Given the description of an element on the screen output the (x, y) to click on. 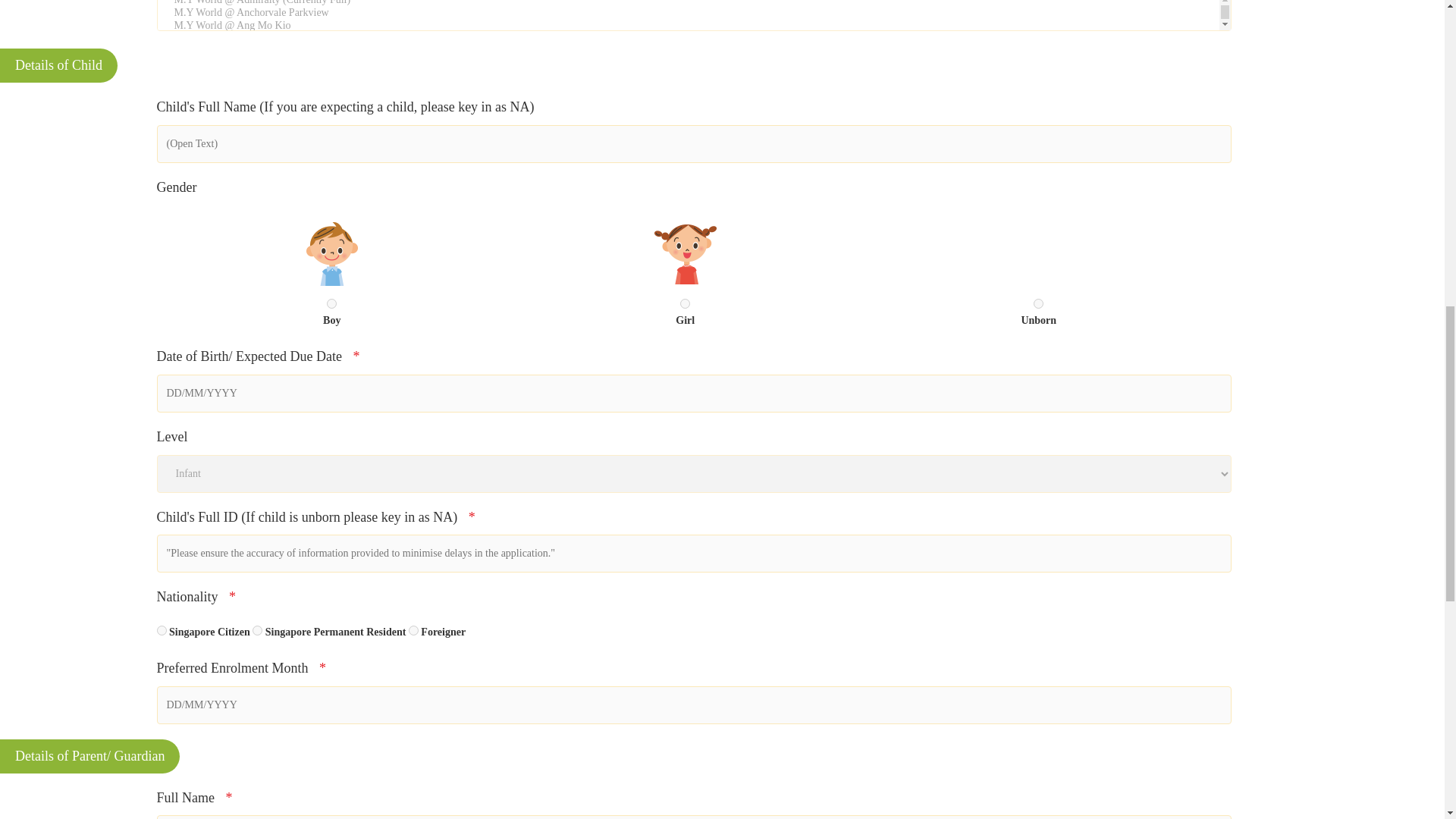
Singapore Citizen (160, 630)
Foreigner (414, 630)
0 (331, 303)
2 (1038, 303)
1 (684, 303)
Singapore Permanent Resident (256, 630)
